Given the description of an element on the screen output the (x, y) to click on. 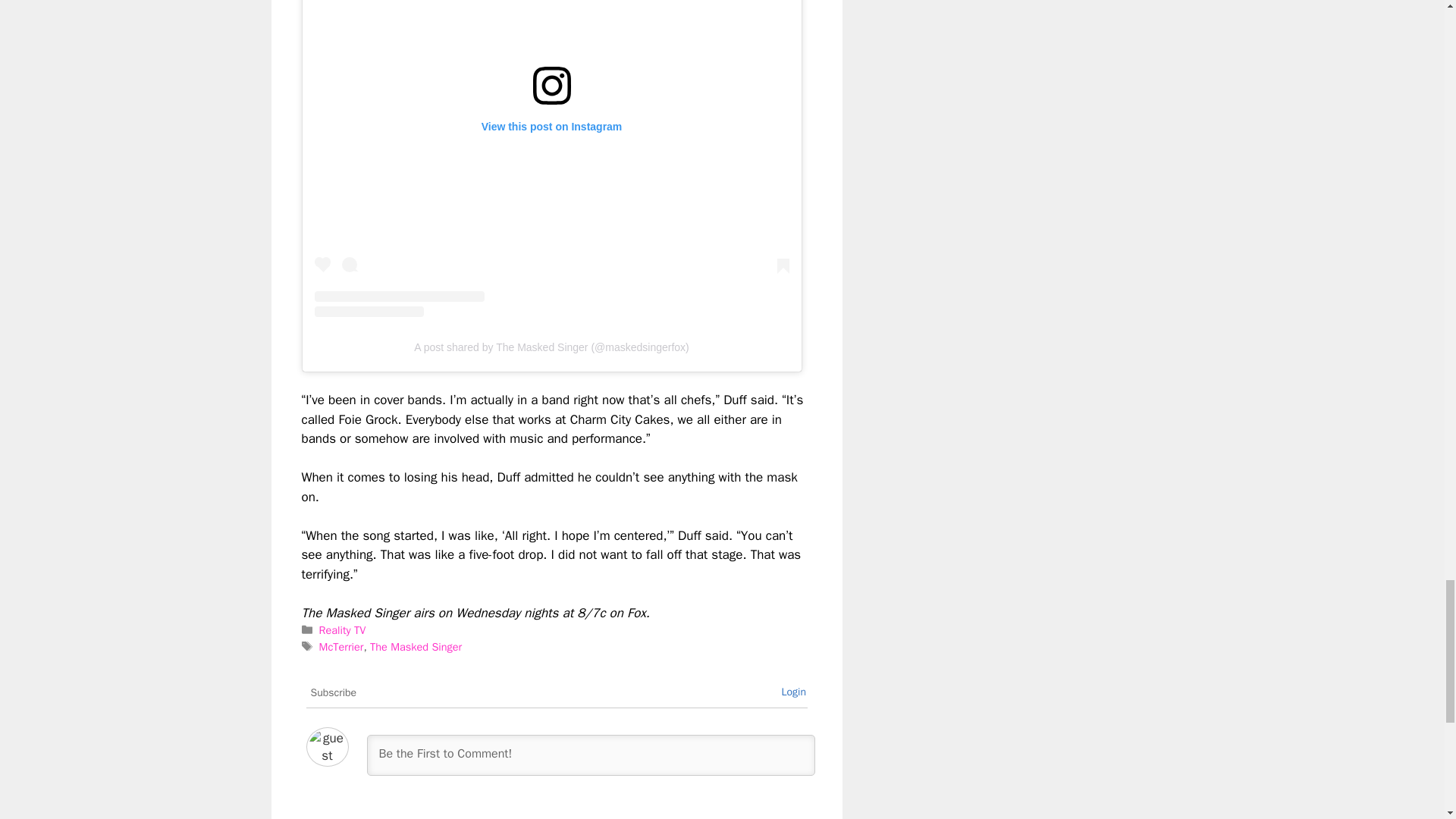
McTerrier (341, 646)
The Masked Singer (415, 646)
Reality TV (342, 630)
Login (793, 691)
